Given the description of an element on the screen output the (x, y) to click on. 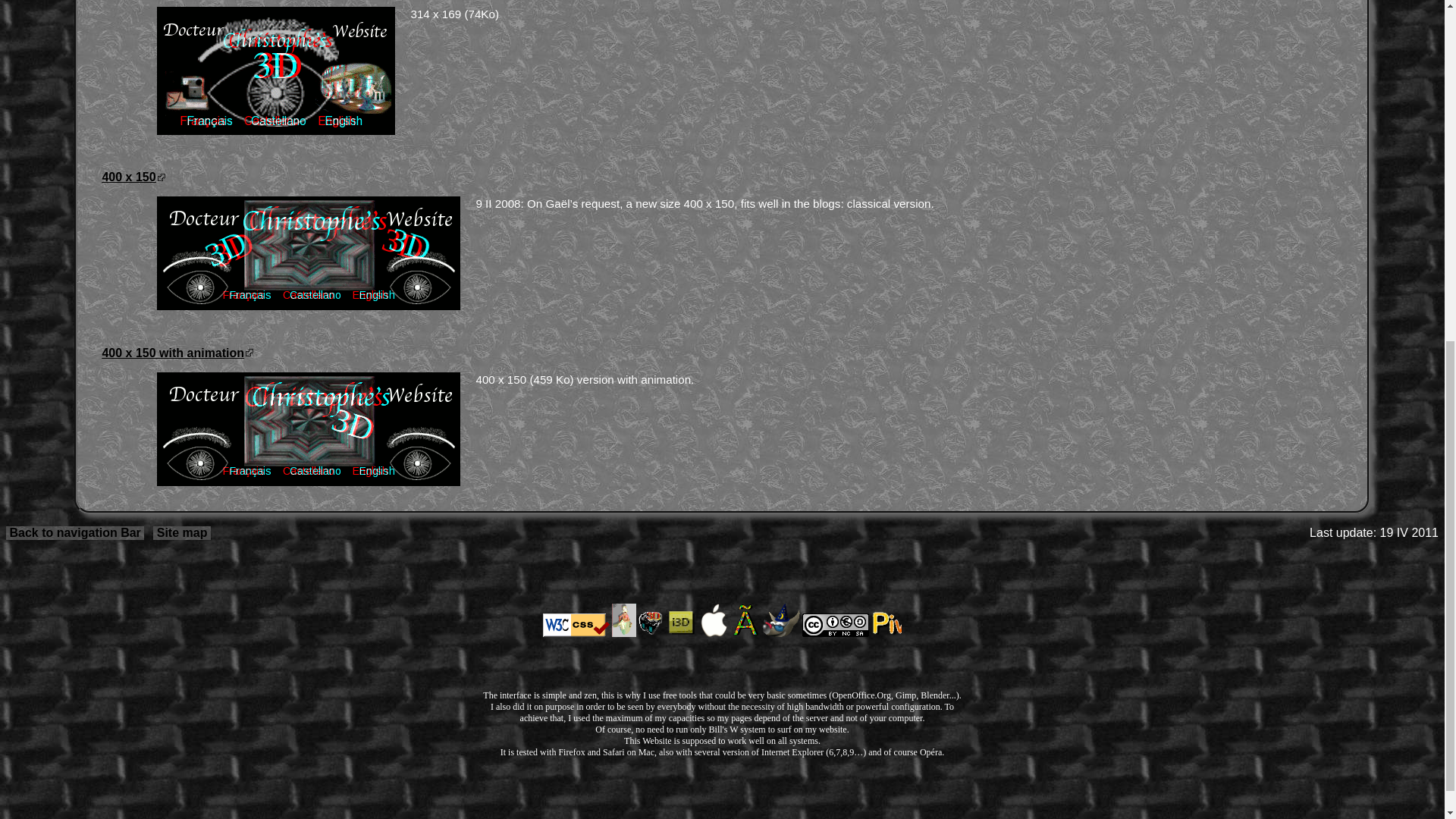
400 x 150 (132, 176)
400 x 150 with animation (177, 352)
 Back to navigation Bar  (74, 532)
 Site map  (181, 532)
